Given the description of an element on the screen output the (x, y) to click on. 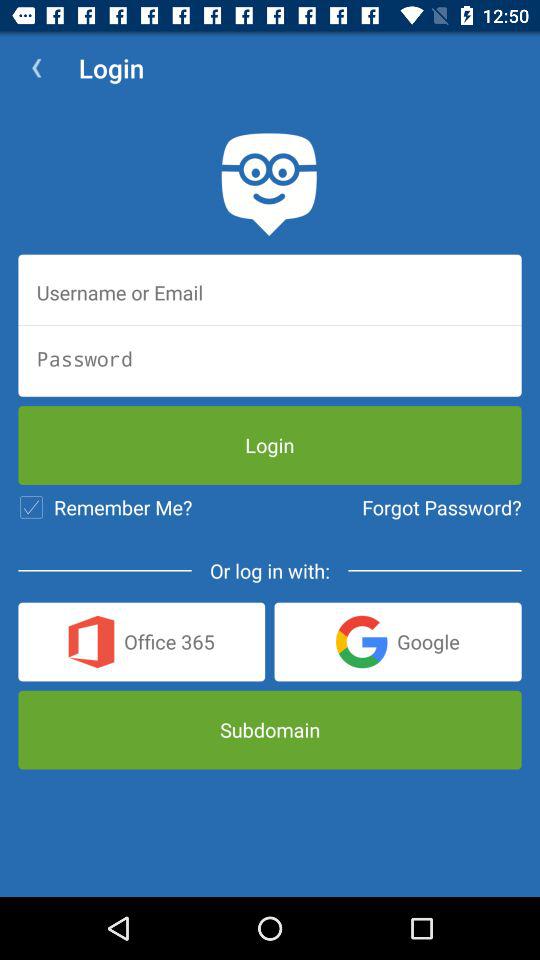
choose the forgot password? item (441, 507)
